Given the description of an element on the screen output the (x, y) to click on. 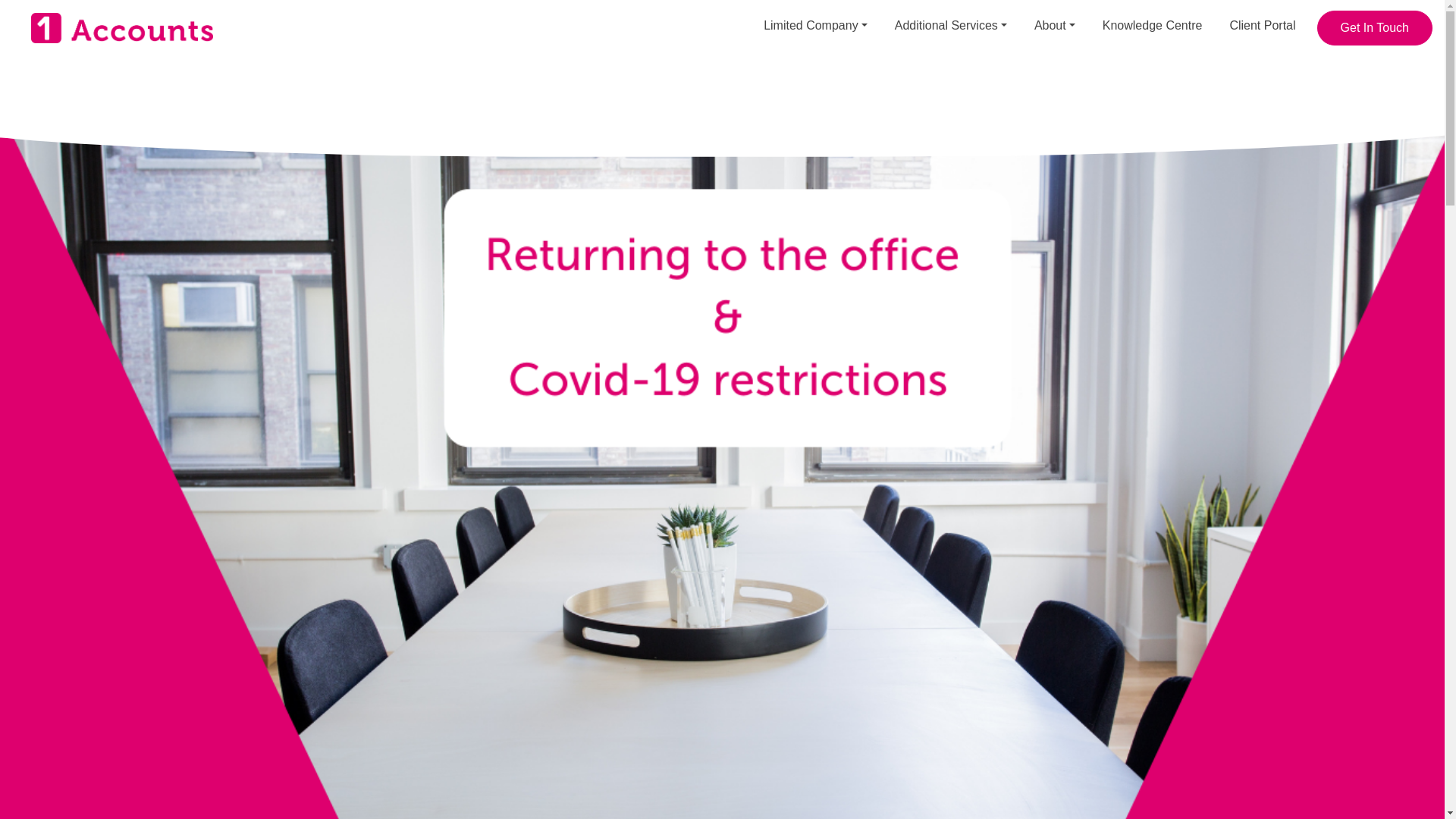
About (1054, 25)
Limited Company (815, 25)
Client Portal (1262, 25)
Get In Touch (1374, 27)
Additional Services (950, 25)
About (1054, 25)
Additional Services (950, 25)
Limited Company (815, 25)
Knowledge Centre (1152, 25)
Knowledge Centre (1152, 25)
